Given the description of an element on the screen output the (x, y) to click on. 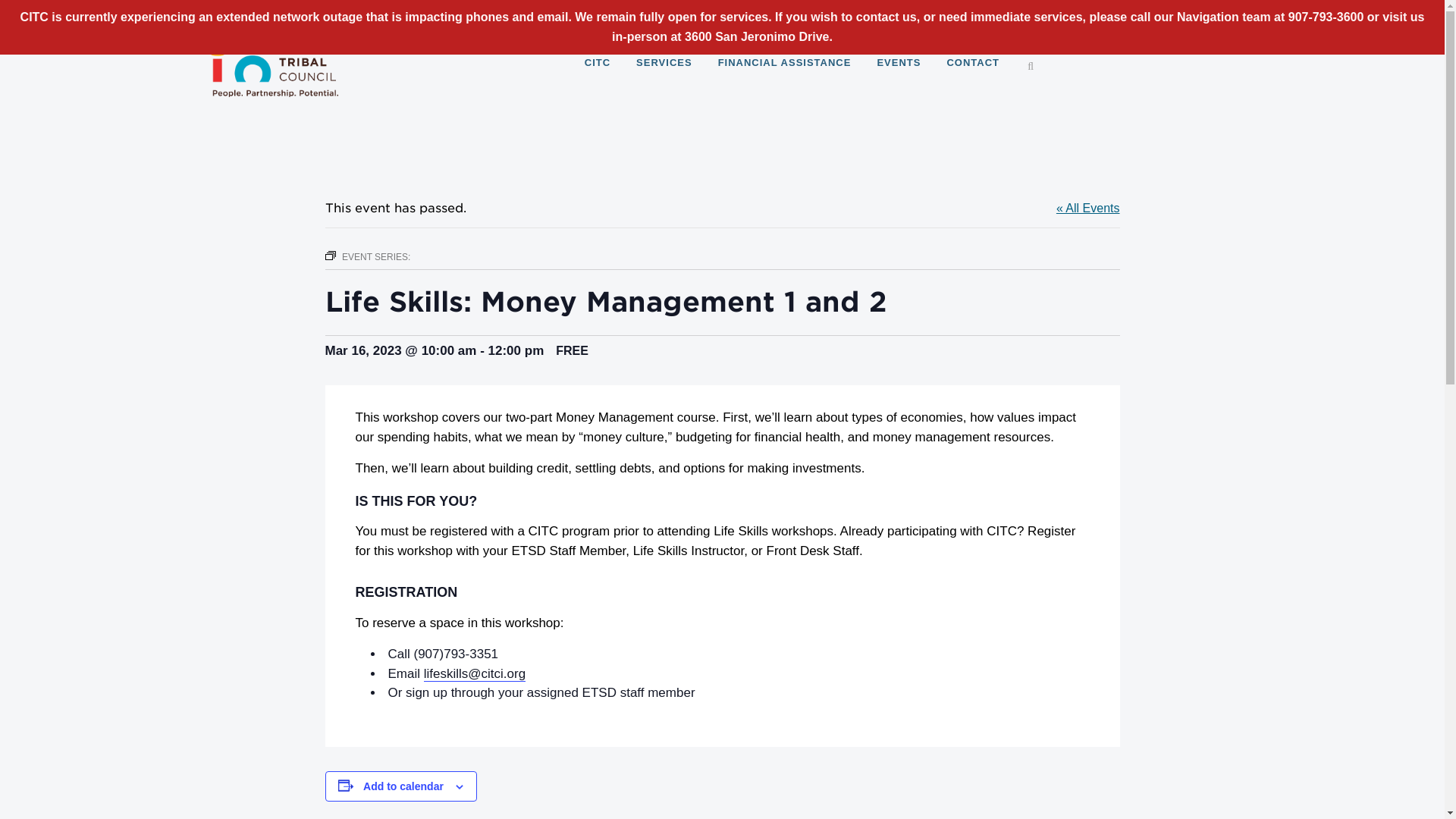
SERVICES (663, 62)
FINANCIAL ASSISTANCE (784, 62)
CITC (597, 62)
myCITC (797, 11)
Donate (945, 12)
CAREERS (873, 11)
CONTACT (972, 62)
EVENTS (898, 62)
Event Series: (329, 256)
